Given the description of an element on the screen output the (x, y) to click on. 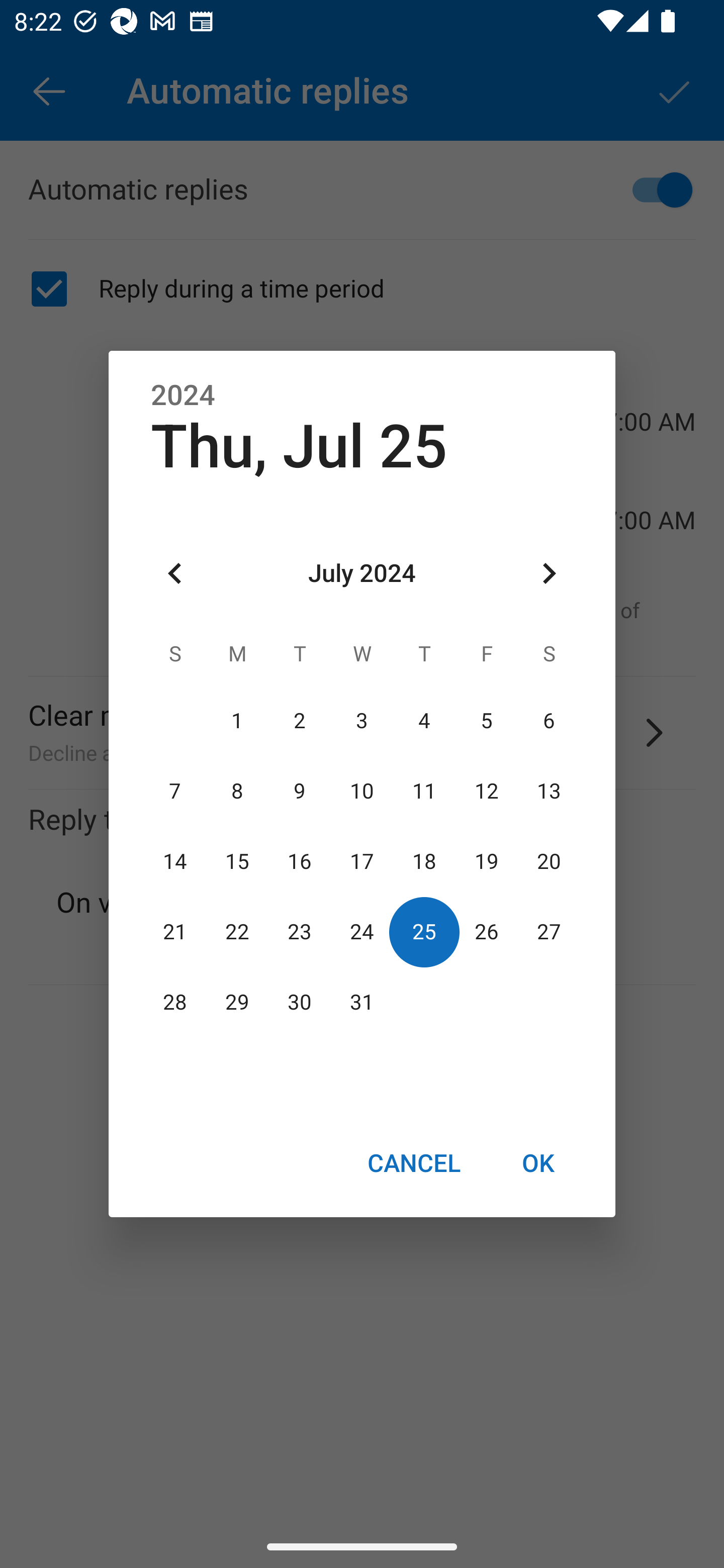
2024 (182, 395)
Thu, Jul 25 (298, 446)
Previous month (174, 573)
Next month (548, 573)
1 01 July 2024 (237, 720)
2 02 July 2024 (299, 720)
3 03 July 2024 (361, 720)
4 04 July 2024 (424, 720)
5 05 July 2024 (486, 720)
6 06 July 2024 (548, 720)
7 07 July 2024 (175, 790)
8 08 July 2024 (237, 790)
9 09 July 2024 (299, 790)
10 10 July 2024 (361, 790)
11 11 July 2024 (424, 790)
12 12 July 2024 (486, 790)
13 13 July 2024 (548, 790)
14 14 July 2024 (175, 861)
15 15 July 2024 (237, 861)
16 16 July 2024 (299, 861)
17 17 July 2024 (361, 861)
18 18 July 2024 (424, 861)
19 19 July 2024 (486, 861)
20 20 July 2024 (548, 861)
21 21 July 2024 (175, 931)
22 22 July 2024 (237, 931)
23 23 July 2024 (299, 931)
24 24 July 2024 (361, 931)
25 25 July 2024 (424, 931)
26 26 July 2024 (486, 931)
27 27 July 2024 (548, 931)
28 28 July 2024 (175, 1002)
29 29 July 2024 (237, 1002)
30 30 July 2024 (299, 1002)
31 31 July 2024 (361, 1002)
CANCEL (413, 1162)
OK (537, 1162)
